Given the description of an element on the screen output the (x, y) to click on. 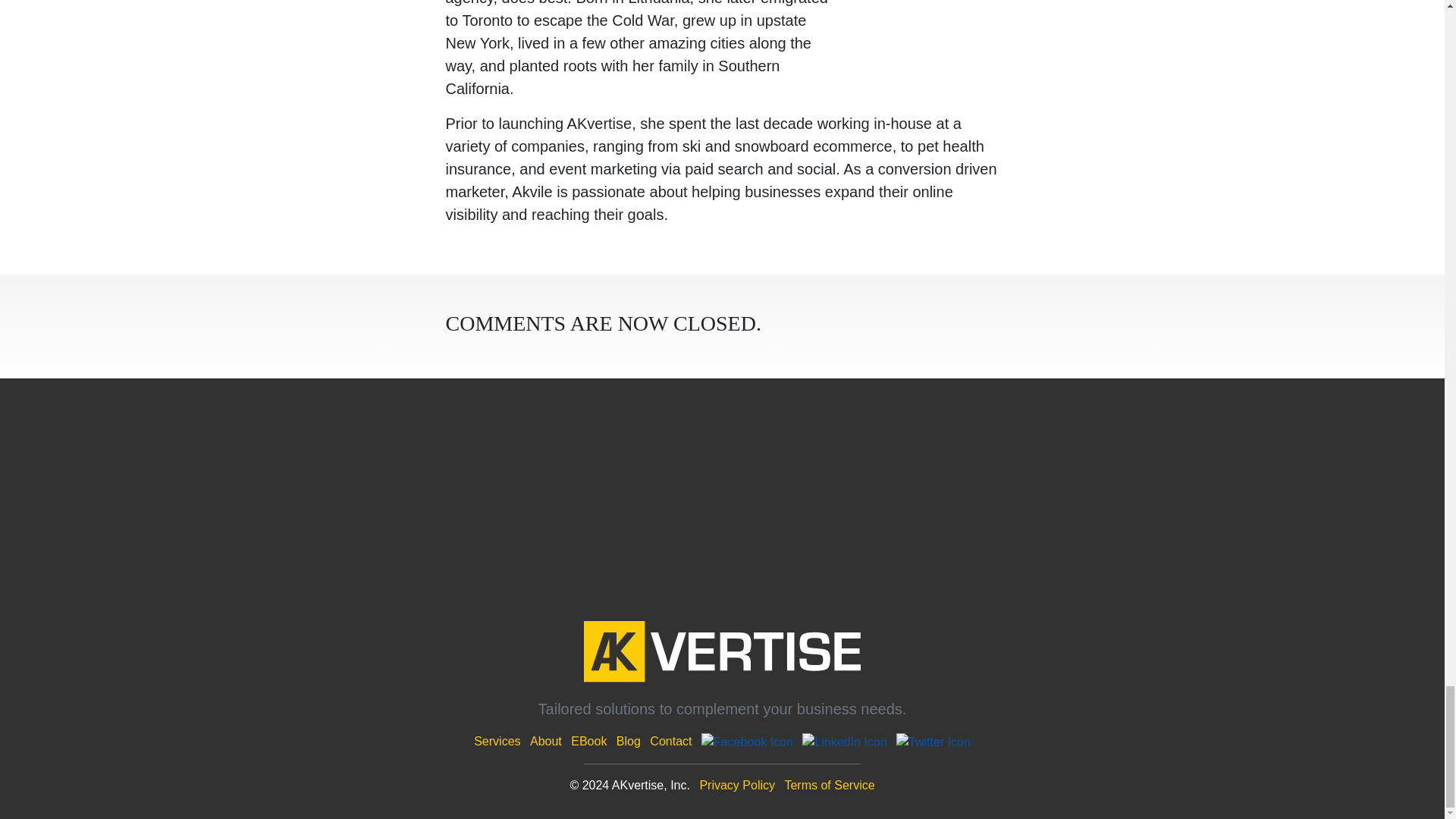
Twitter (933, 740)
EBook (588, 740)
Privacy Policy (736, 784)
Facebook (747, 740)
Blog (627, 740)
Terms of Service (829, 784)
Contact (670, 740)
LinkedIn (844, 740)
Services (496, 740)
About (545, 740)
